Given the description of an element on the screen output the (x, y) to click on. 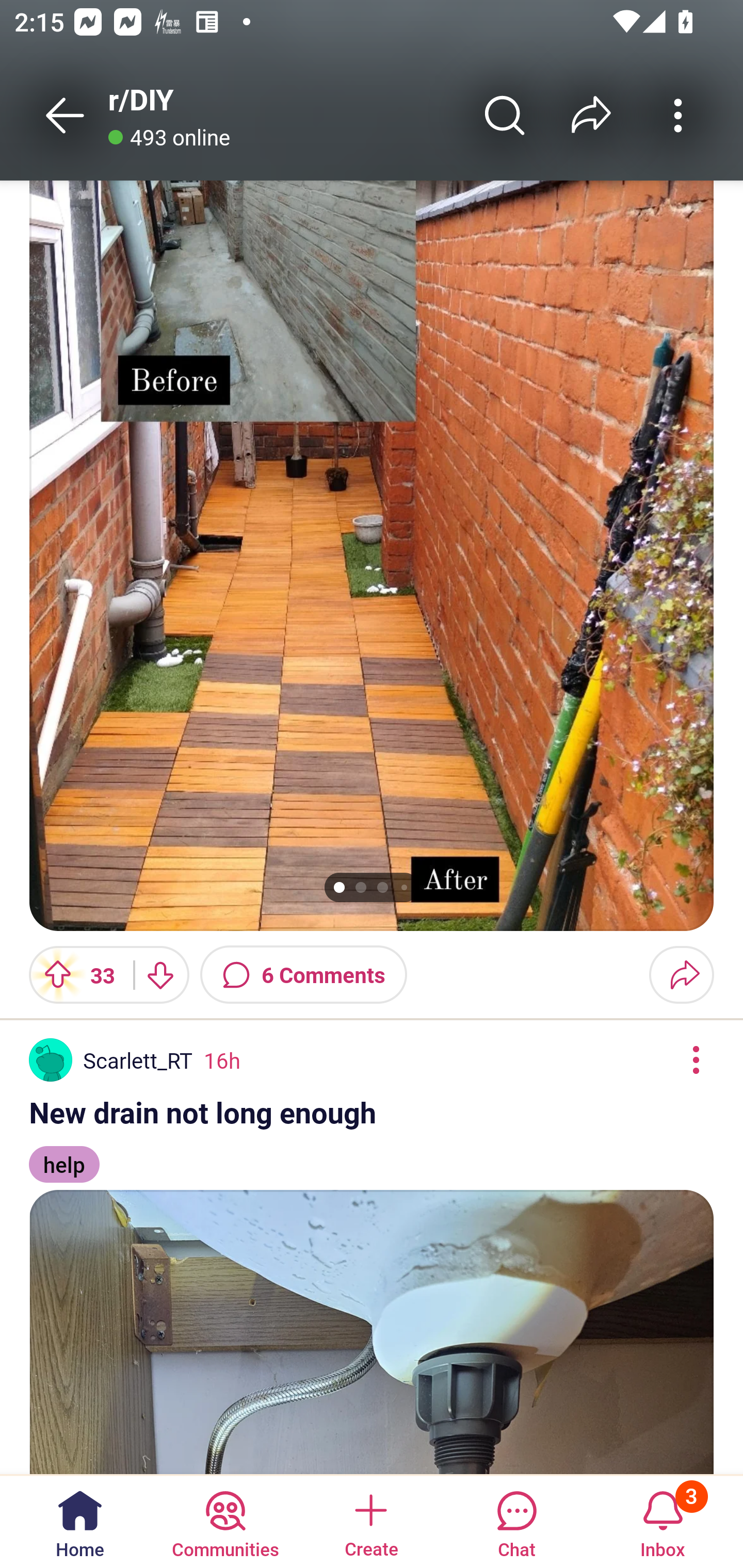
Back (64, 115)
Search r/﻿DIY (504, 115)
Share r/﻿DIY (591, 115)
More community actions (677, 115)
help (63, 1155)
Home (80, 1520)
Communities (225, 1520)
Create a post Create (370, 1520)
Chat (516, 1520)
Inbox, has 3 notifications 3 Inbox (662, 1520)
